Given the description of an element on the screen output the (x, y) to click on. 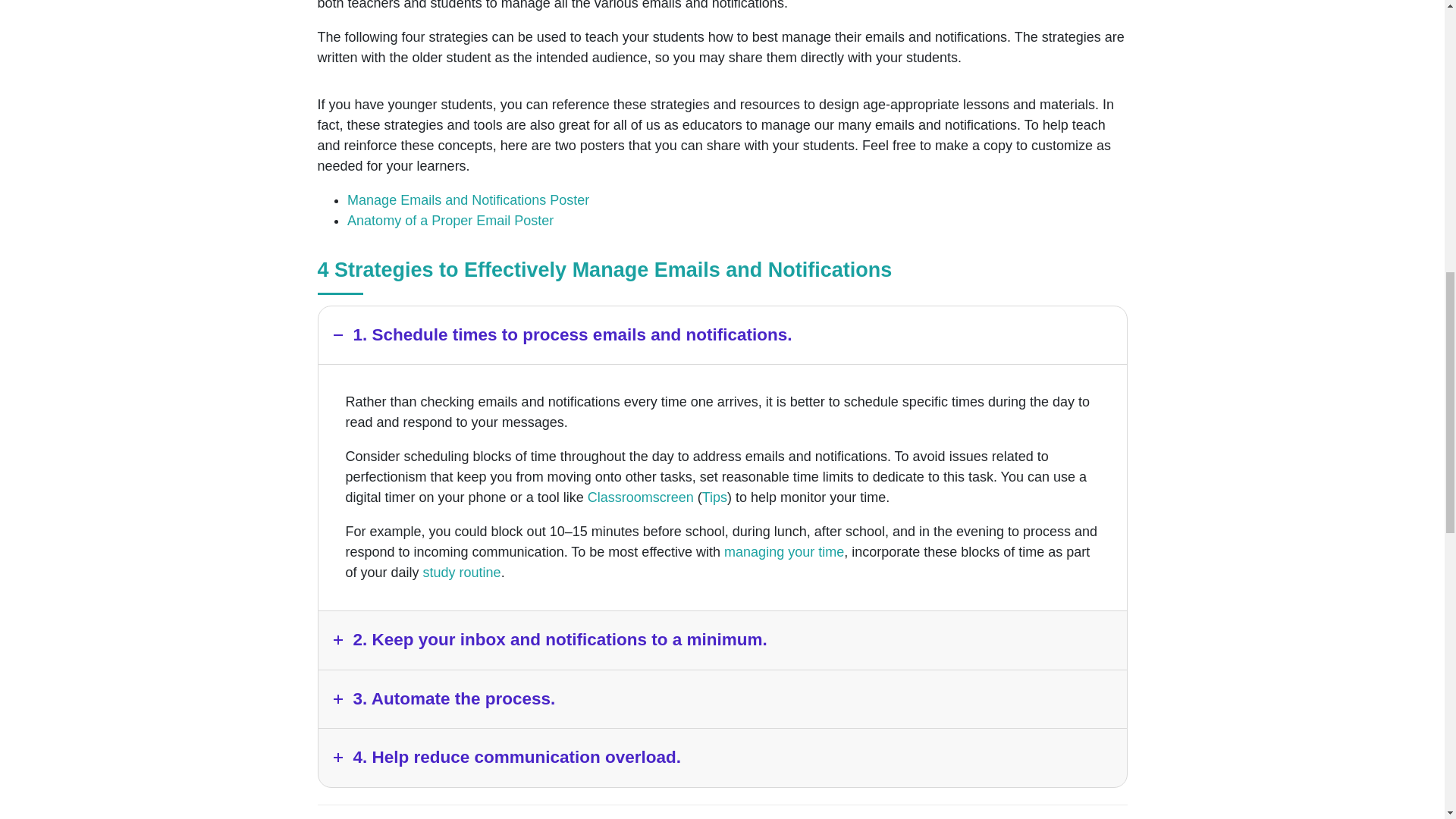
Anatomy of a Proper Email Poster (450, 220)
Manage Emails and Notifications Poster (468, 200)
